Given the description of an element on the screen output the (x, y) to click on. 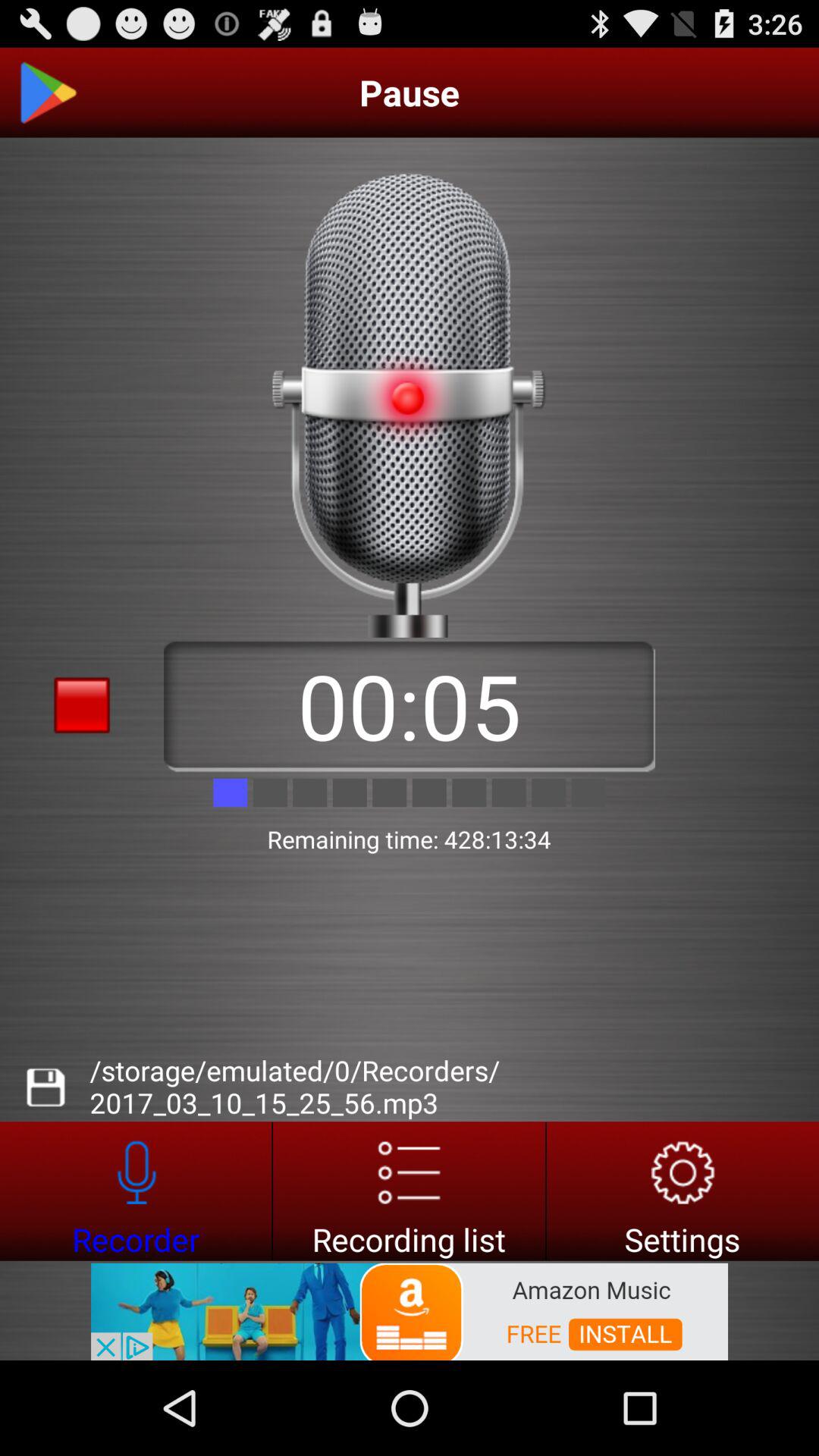
click to install amazon music app (409, 1310)
